Given the description of an element on the screen output the (x, y) to click on. 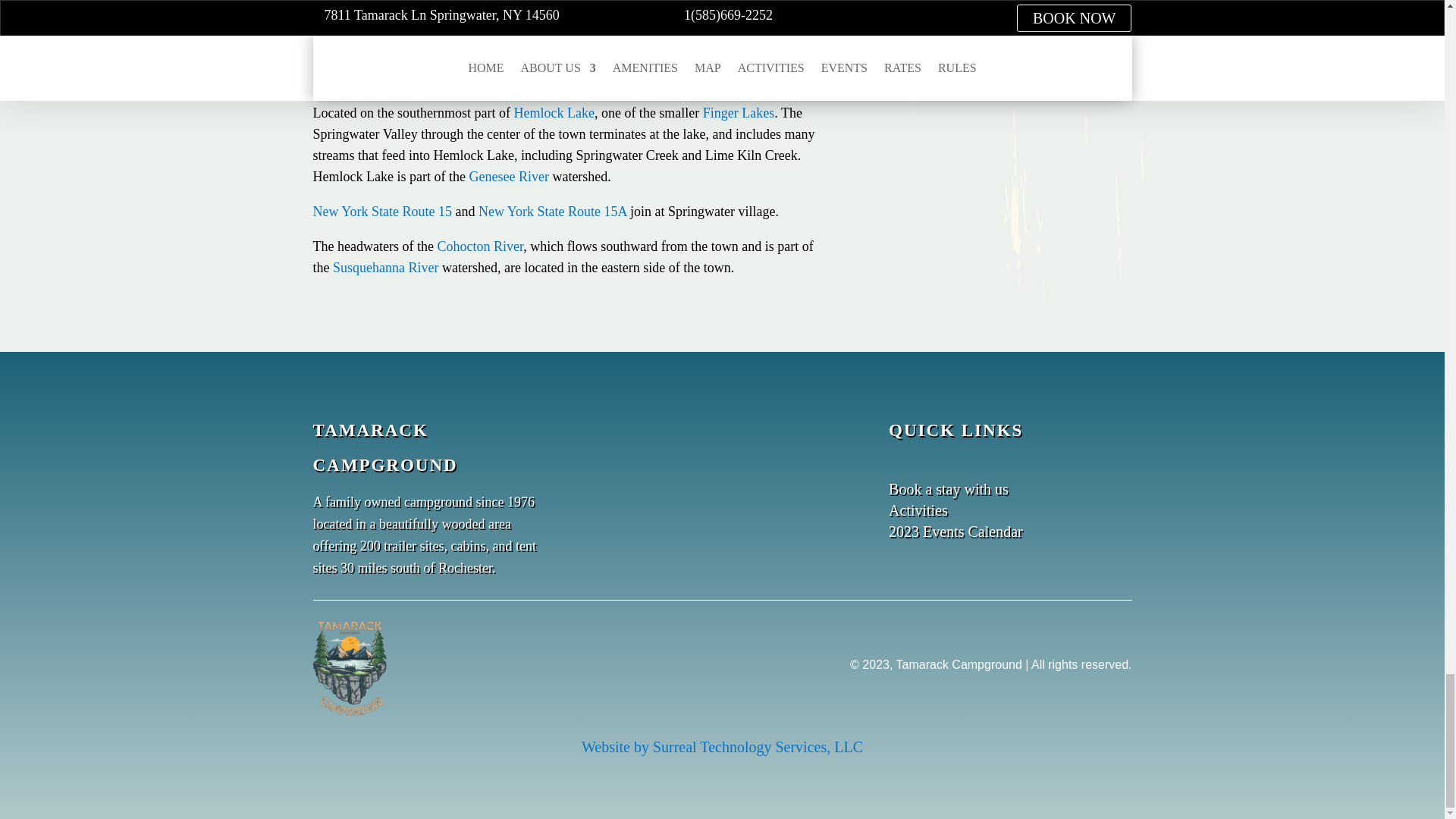
Website by Surreal Technology Services, LLC (721, 746)
Susquehanna River (385, 267)
Activities (917, 510)
Hemlock Lake (553, 112)
New York State Route 15A (553, 211)
New York State Route 15 (382, 211)
Book a stay with us (948, 488)
2023 Events Calendar (955, 531)
Genesee River (508, 176)
Cohocton River (479, 246)
